Given the description of an element on the screen output the (x, y) to click on. 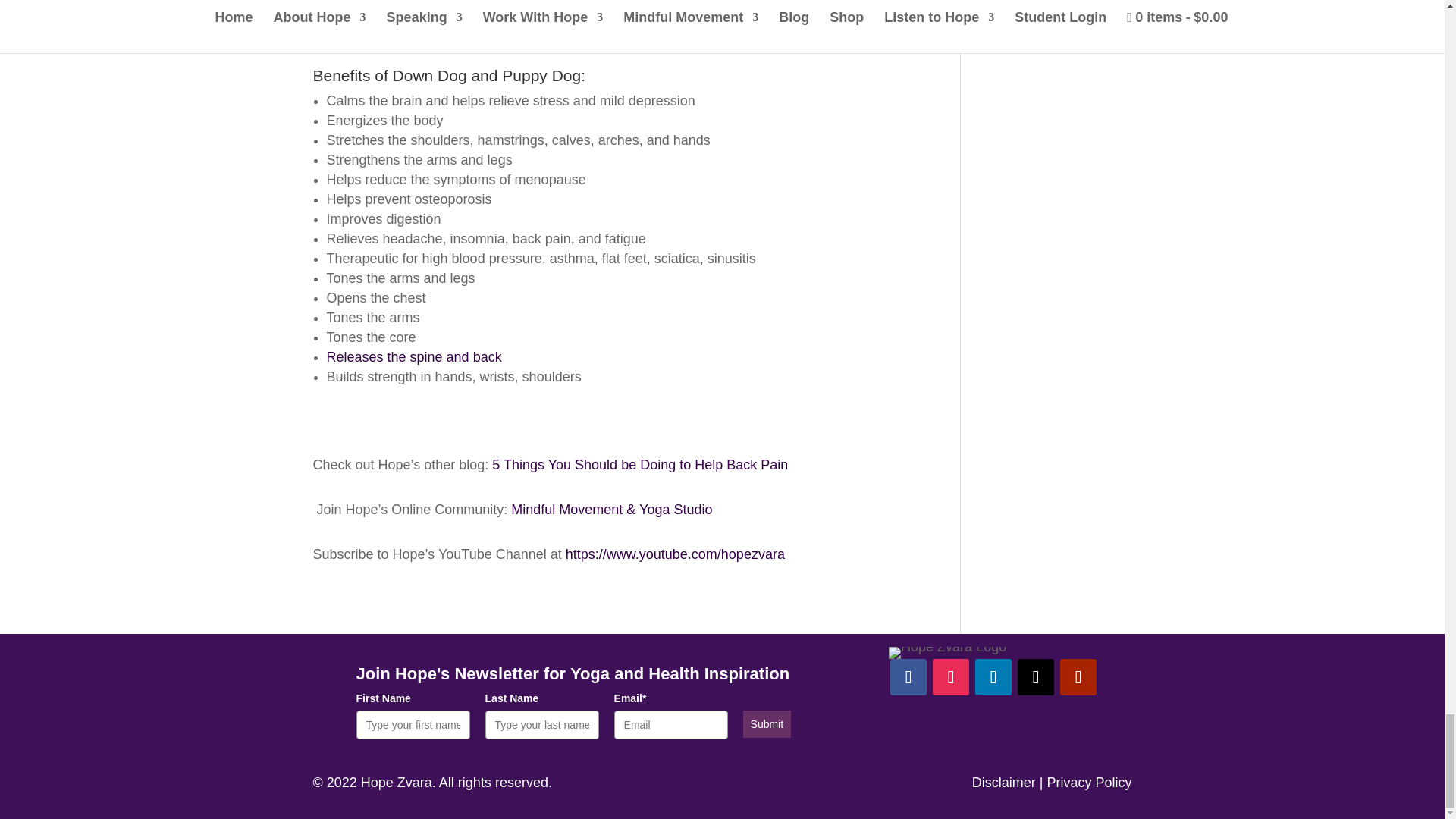
Follow on Youtube (1077, 677)
Follow on LinkedIn (993, 677)
Follow on Instagram (951, 677)
Follow on X (1035, 677)
Hope Zvara Rebrand FINALS- white logo with butterfly (947, 653)
Follow on Facebook (907, 677)
